Given the description of an element on the screen output the (x, y) to click on. 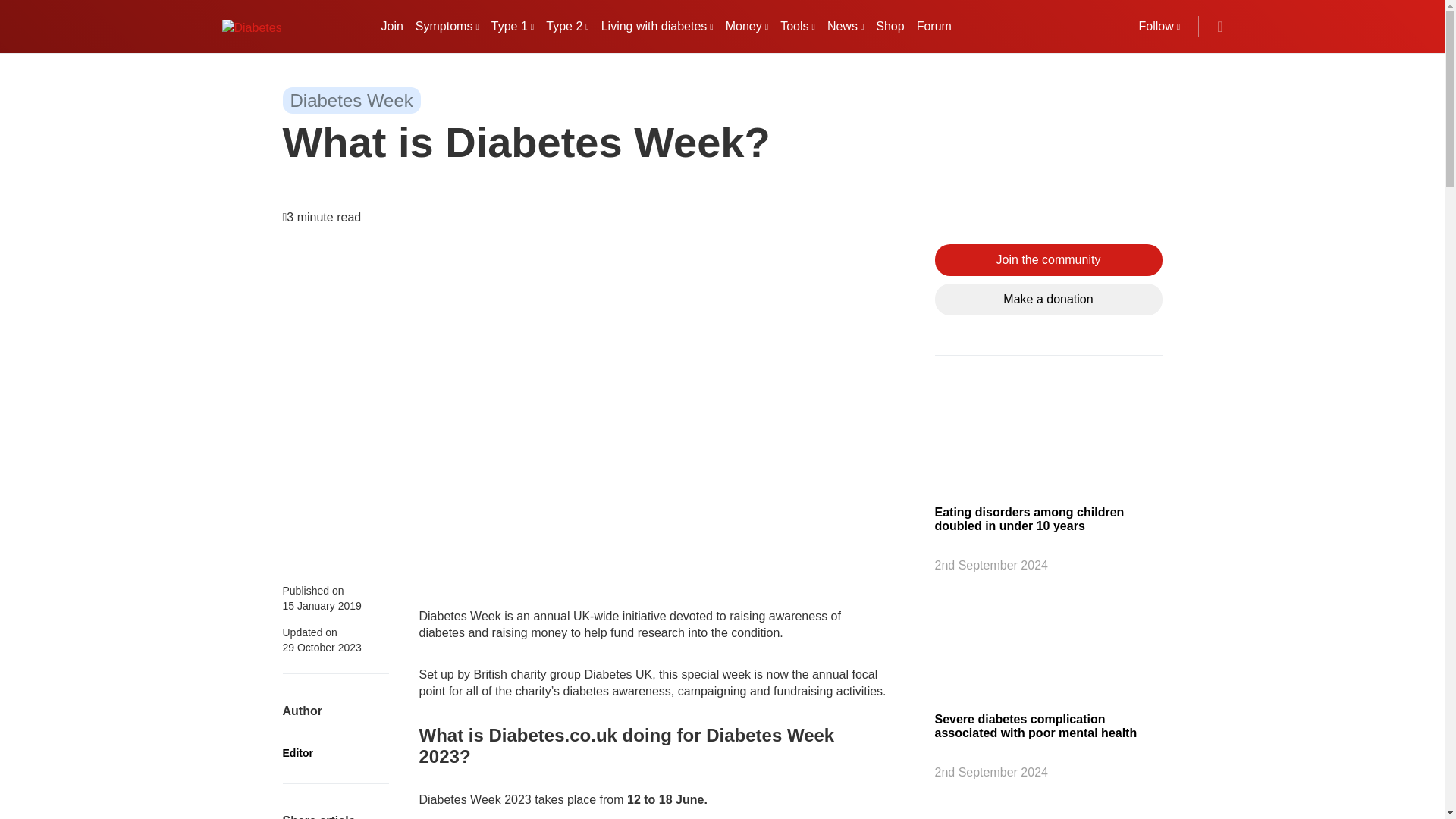
Symptoms (446, 26)
Type 2 (567, 26)
Living with diabetes (657, 26)
Type 1 (512, 26)
